Given the description of an element on the screen output the (x, y) to click on. 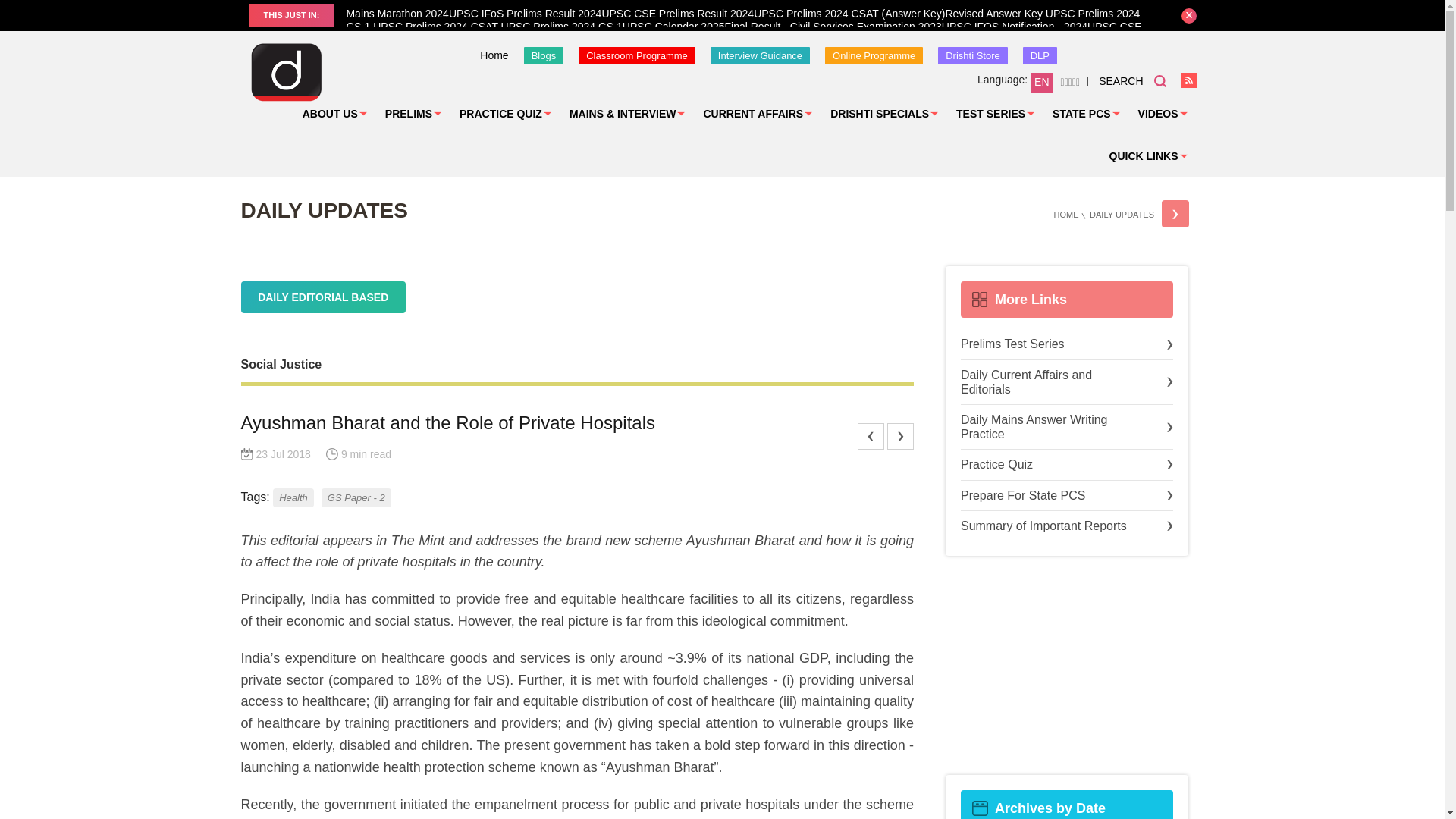
Interview Guidance (759, 55)
Online Programme (874, 55)
DLP (1040, 55)
UPSC Calendar 2025 (674, 26)
Mains Marathon 2024 (397, 13)
Revised Answer Key UPSC Prelims 2024 GS 1 (743, 19)
SEARCH (1132, 80)
Final Result - Civil Services Examination 2023 (833, 26)
UPSC IFoS Prelims Result 2024 (525, 13)
close (1188, 14)
